Given the description of an element on the screen output the (x, y) to click on. 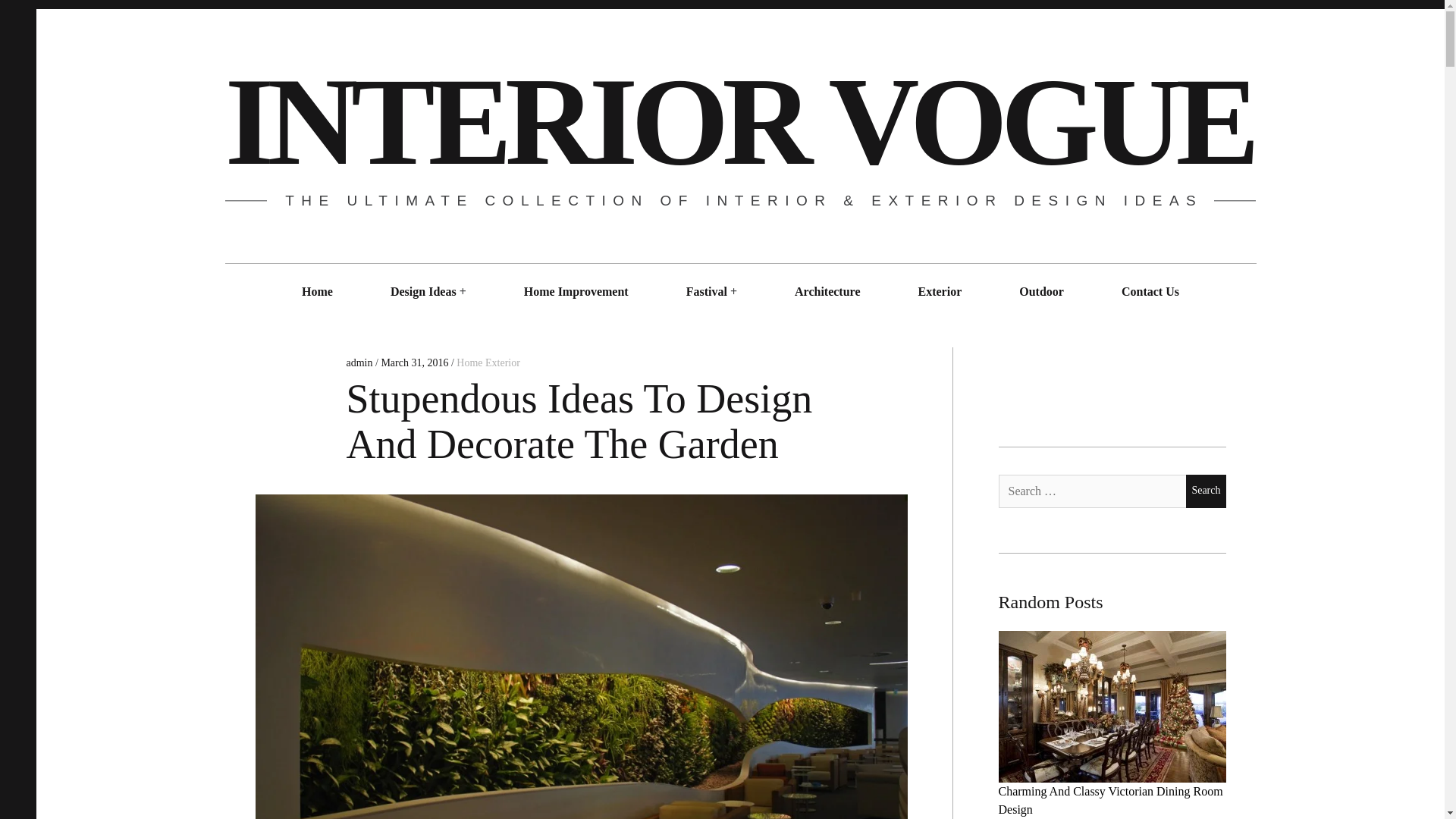
admin (360, 362)
Architecture (826, 291)
Home (317, 291)
Search (1205, 491)
Outdoor (1040, 291)
March 31, 2016 (414, 362)
Contact Us (1150, 291)
Search (1205, 491)
Home Exterior (488, 362)
Home Improvement (576, 291)
Fastival (706, 291)
Design Ideas (422, 291)
Charming And Classy Victorian Dining Room Design (1110, 799)
Search (1205, 491)
